Given the description of an element on the screen output the (x, y) to click on. 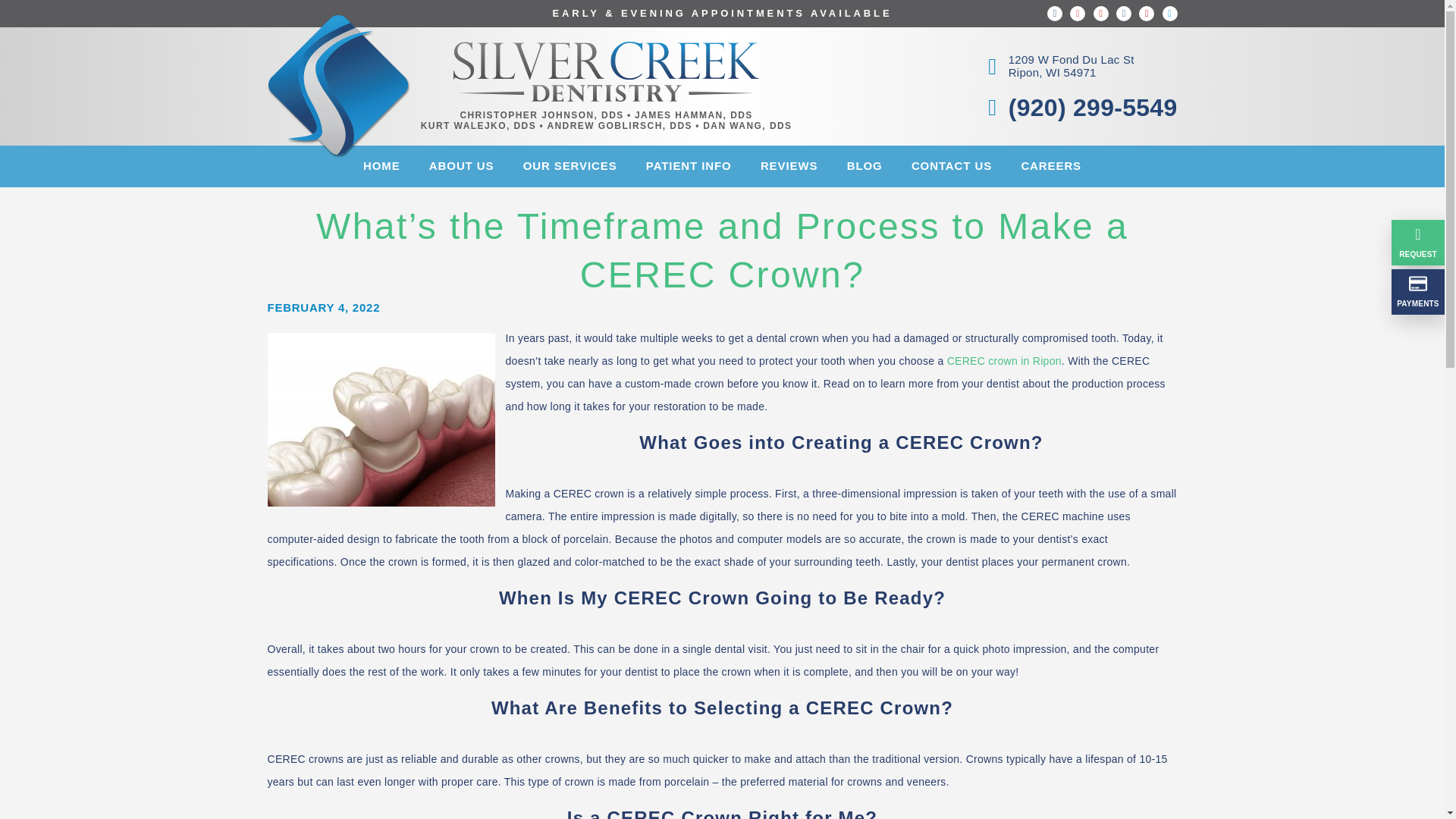
CHRISTOPHER JOHNSON, DDS (541, 115)
KURT WALEJKO, DDS (477, 126)
HOME (381, 166)
ANDREW GOBLIRSCH, DDS (620, 126)
DAN WANG, DDS (1055, 66)
OUR SERVICES (747, 126)
JAMES HAMMAN, DDS (569, 166)
ABOUT US (693, 115)
